Given the description of an element on the screen output the (x, y) to click on. 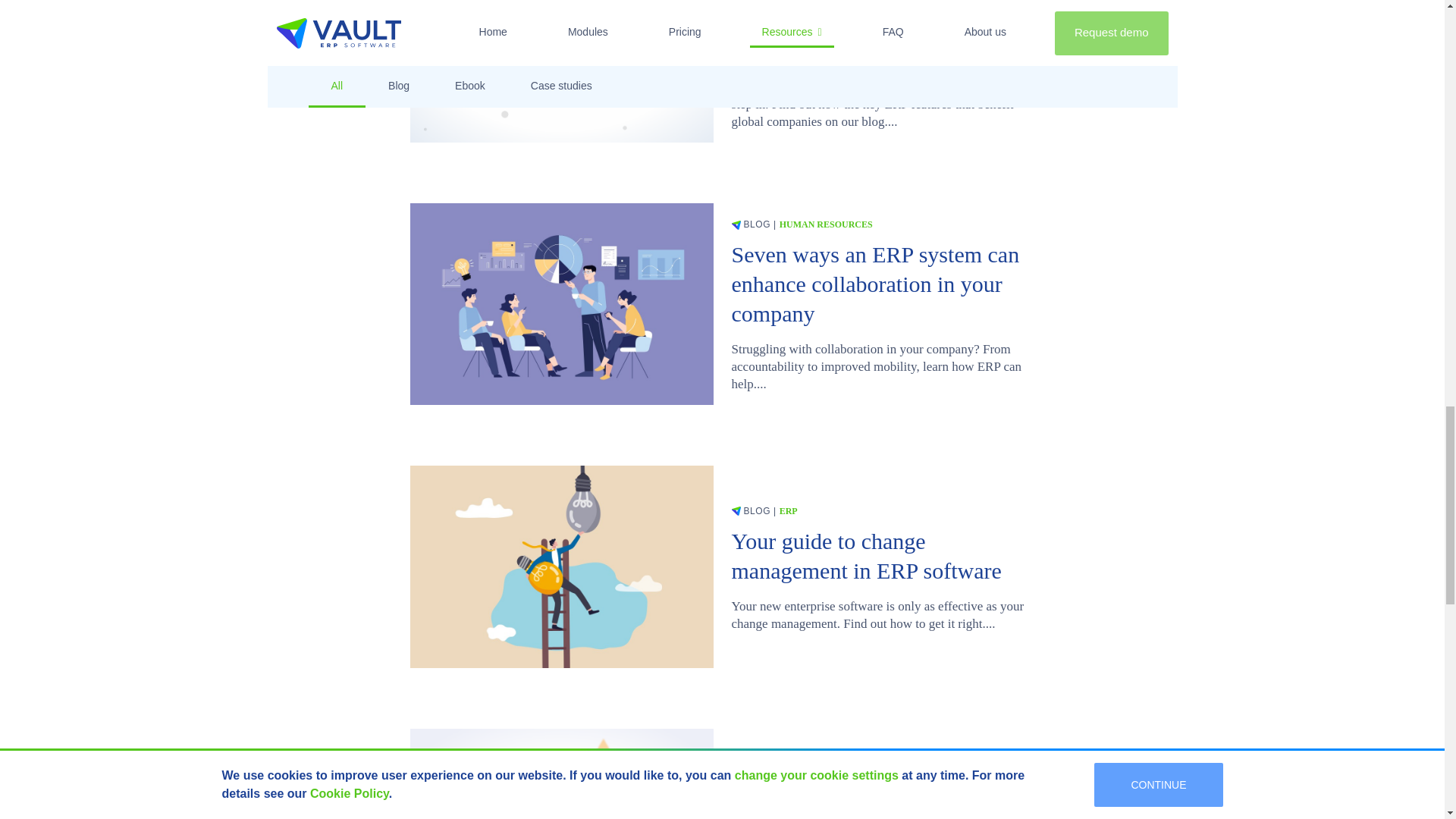
HUMAN RESOURCES (825, 224)
